Given the description of an element on the screen output the (x, y) to click on. 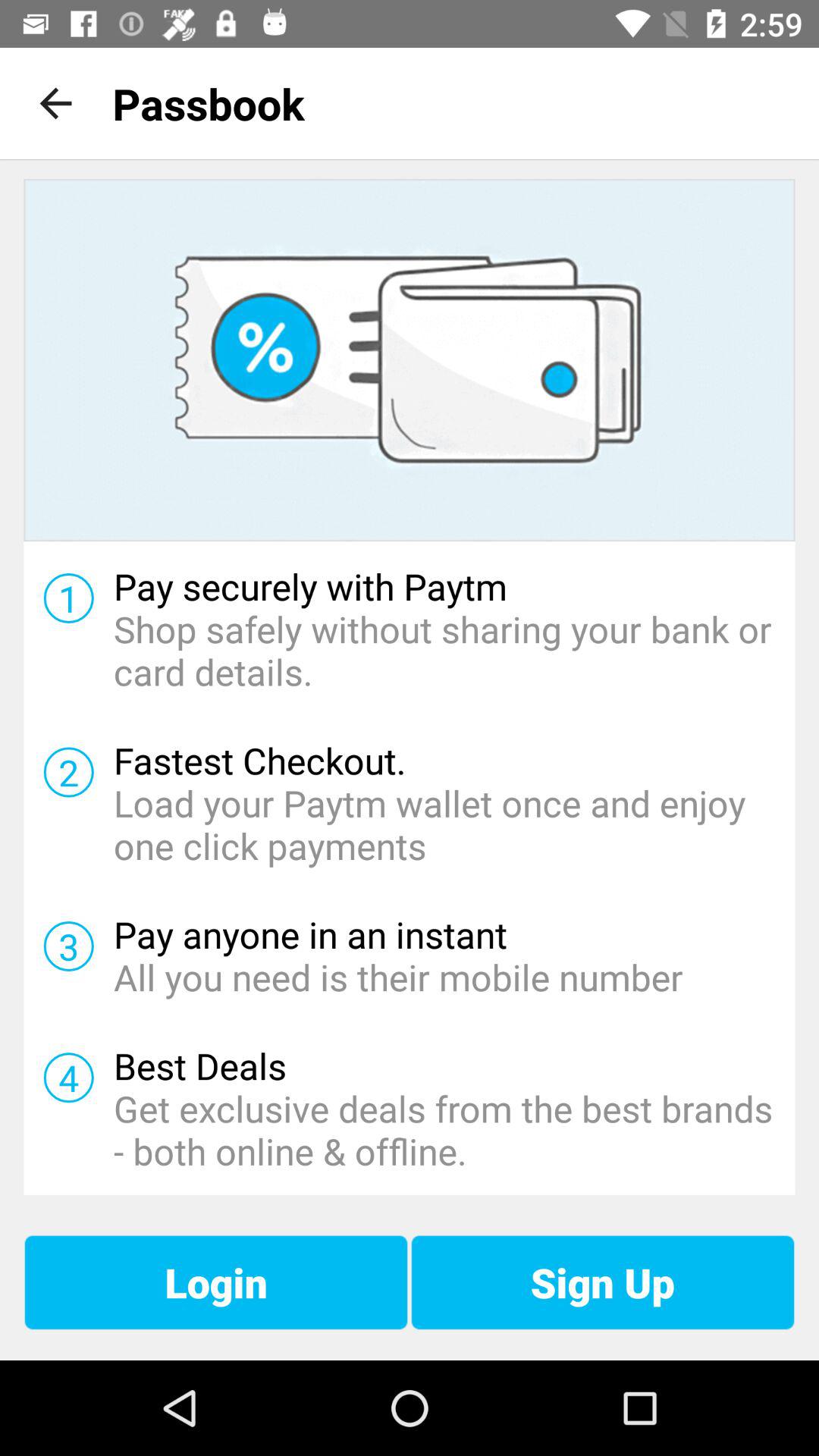
turn on sign up at the bottom right corner (602, 1282)
